Given the description of an element on the screen output the (x, y) to click on. 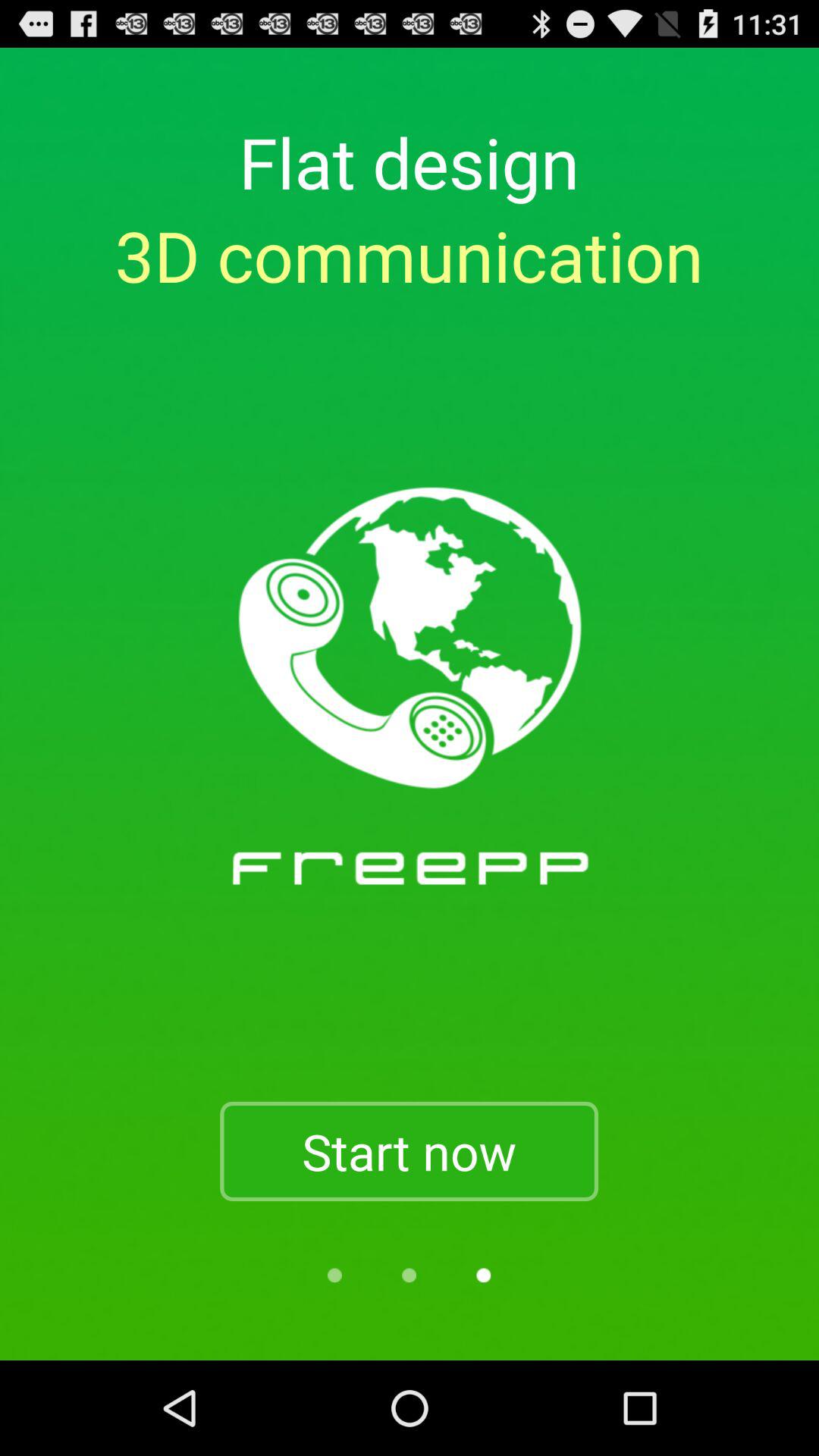
go to next page (483, 1275)
